Given the description of an element on the screen output the (x, y) to click on. 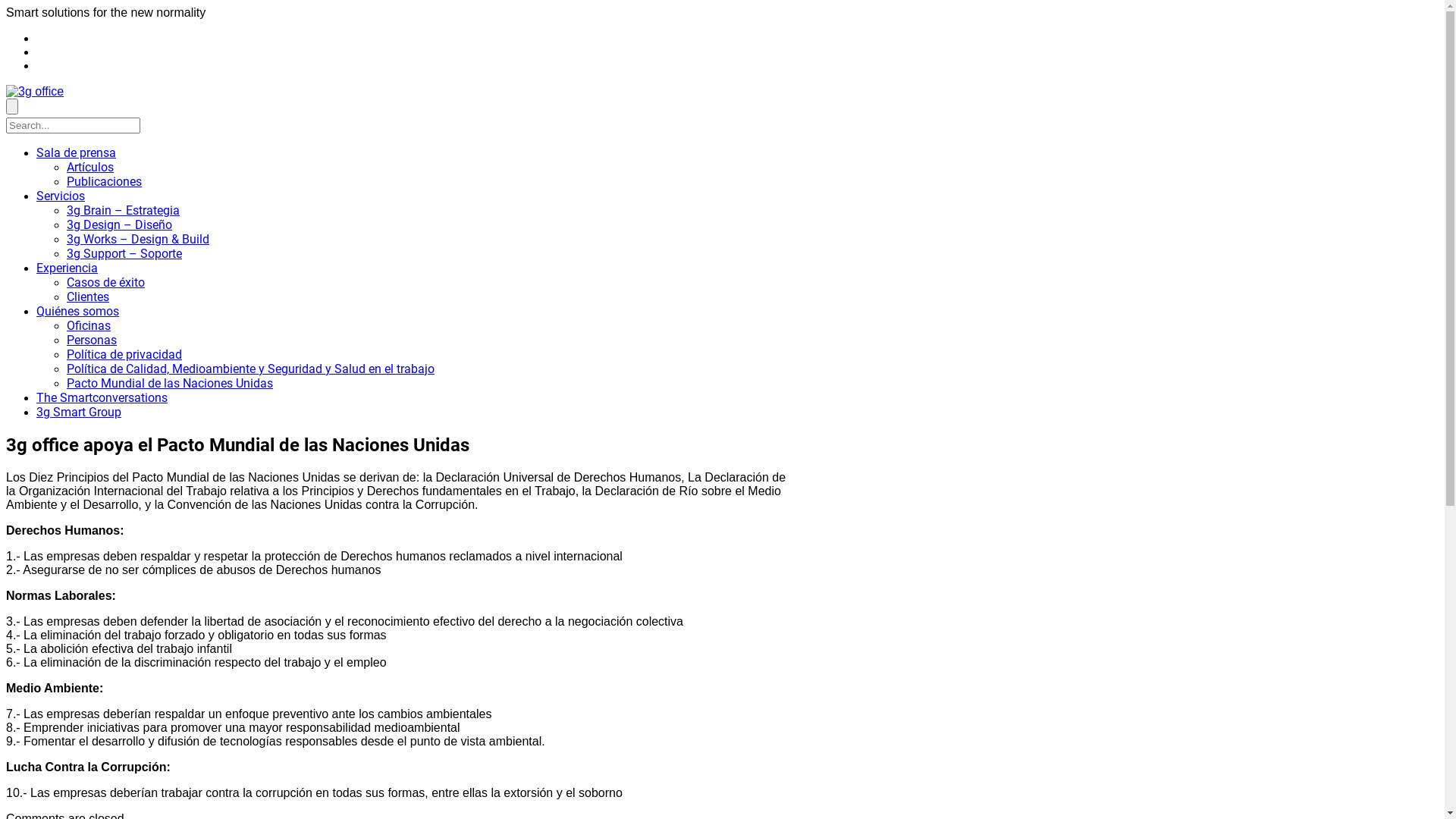
3g Smart Group Element type: text (78, 411)
Experiencia Element type: text (66, 267)
Pacto Mundial de las Naciones Unidas Element type: text (169, 383)
The Smartconversations Element type: text (101, 397)
Sala de prensa Element type: text (76, 152)
Publicaciones Element type: text (103, 181)
Personas Element type: text (91, 339)
Servicios Element type: text (60, 195)
Oficinas Element type: text (88, 325)
3g office Element type: hover (34, 90)
Clientes Element type: text (87, 296)
